Given the description of an element on the screen output the (x, y) to click on. 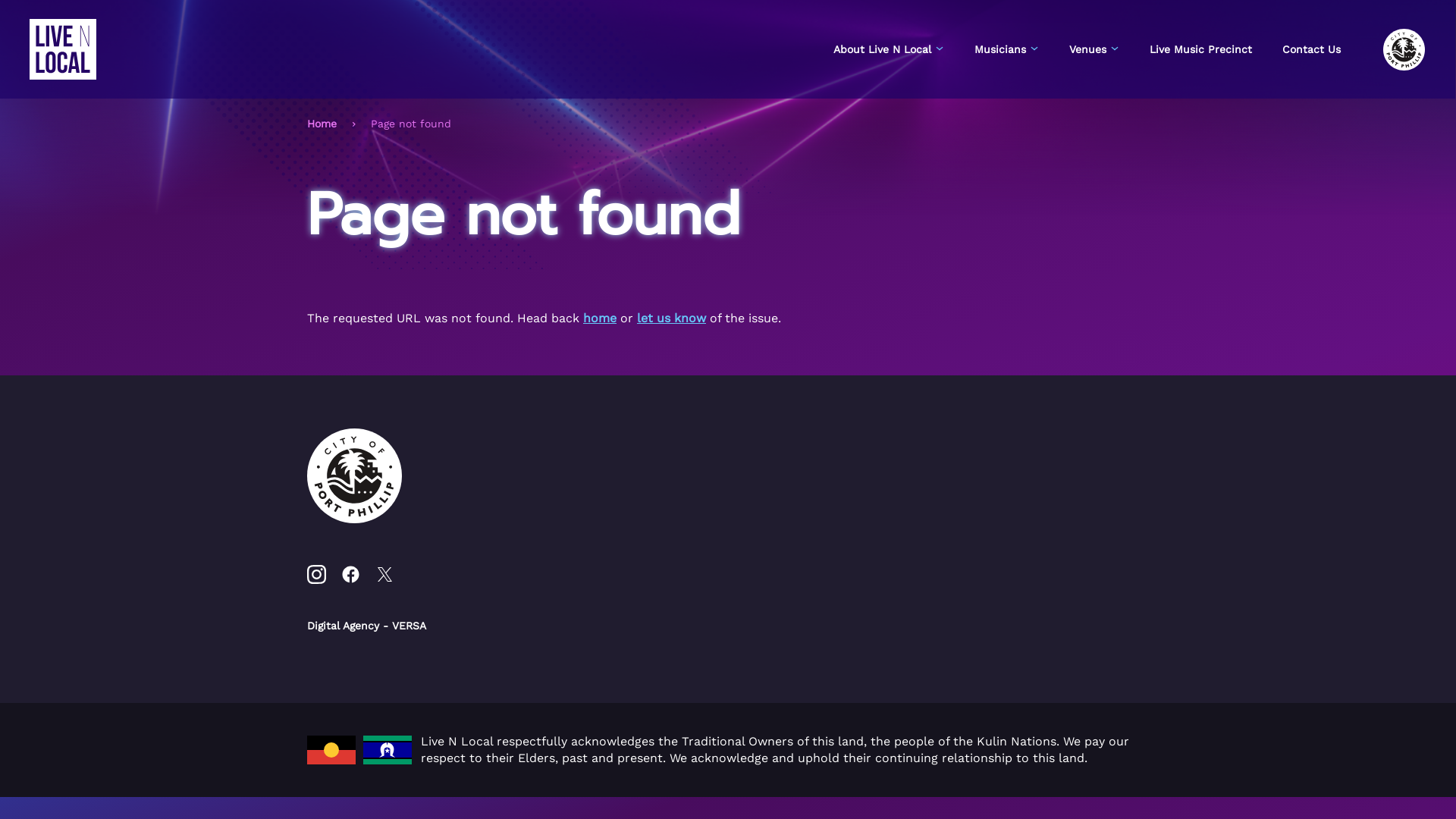
Venues Element type: text (1094, 48)
Musicians Element type: text (1006, 48)
About Live N Local Element type: text (888, 48)
Contact Us Element type: text (1311, 48)
Home Element type: text (321, 123)
Live Music Precinct Element type: text (1200, 48)
let us know Element type: text (671, 317)
Digital Agency Element type: text (343, 626)
home Element type: text (599, 317)
